Given the description of an element on the screen output the (x, y) to click on. 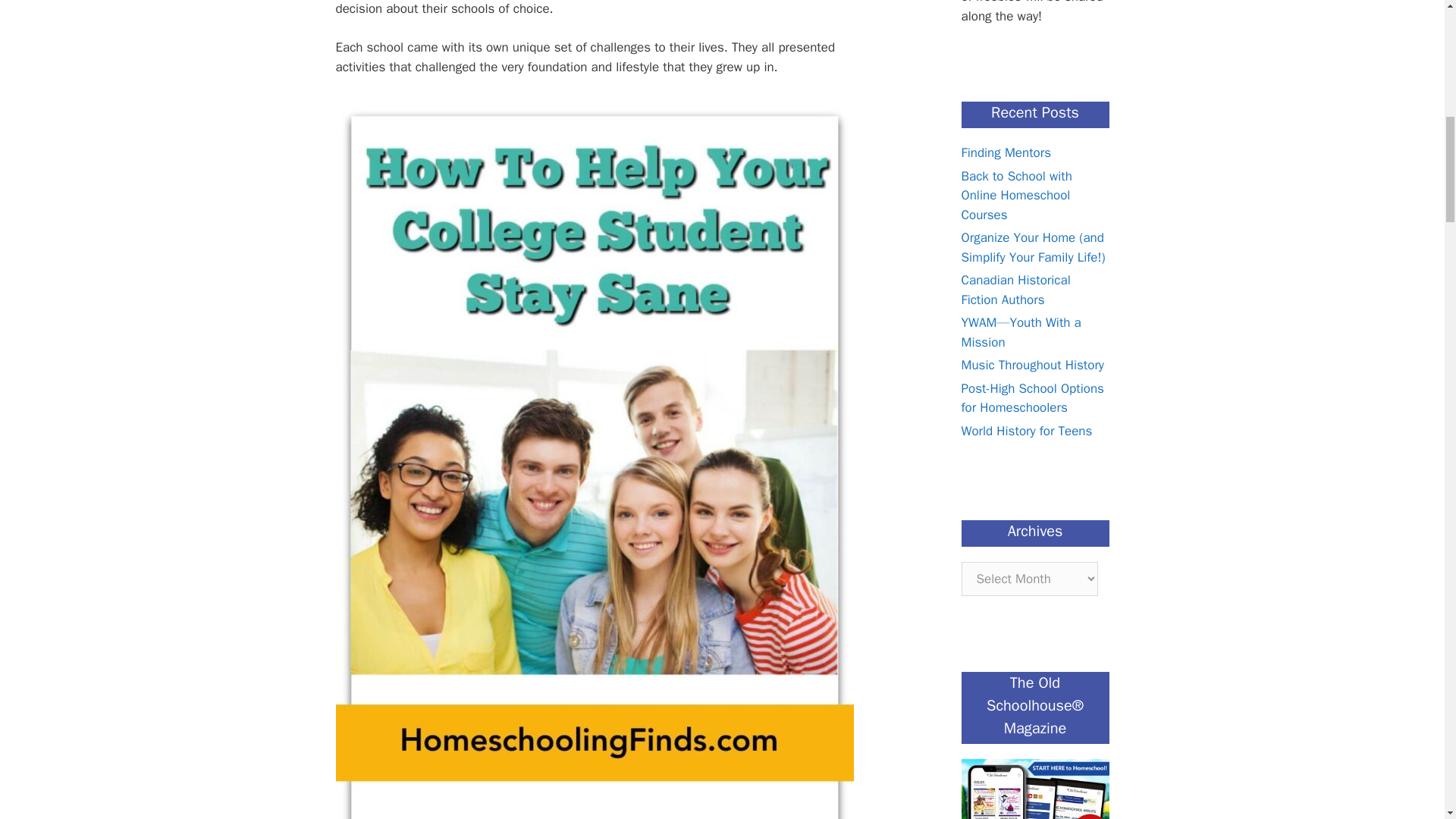
Scroll back to top (1406, 720)
